Given the description of an element on the screen output the (x, y) to click on. 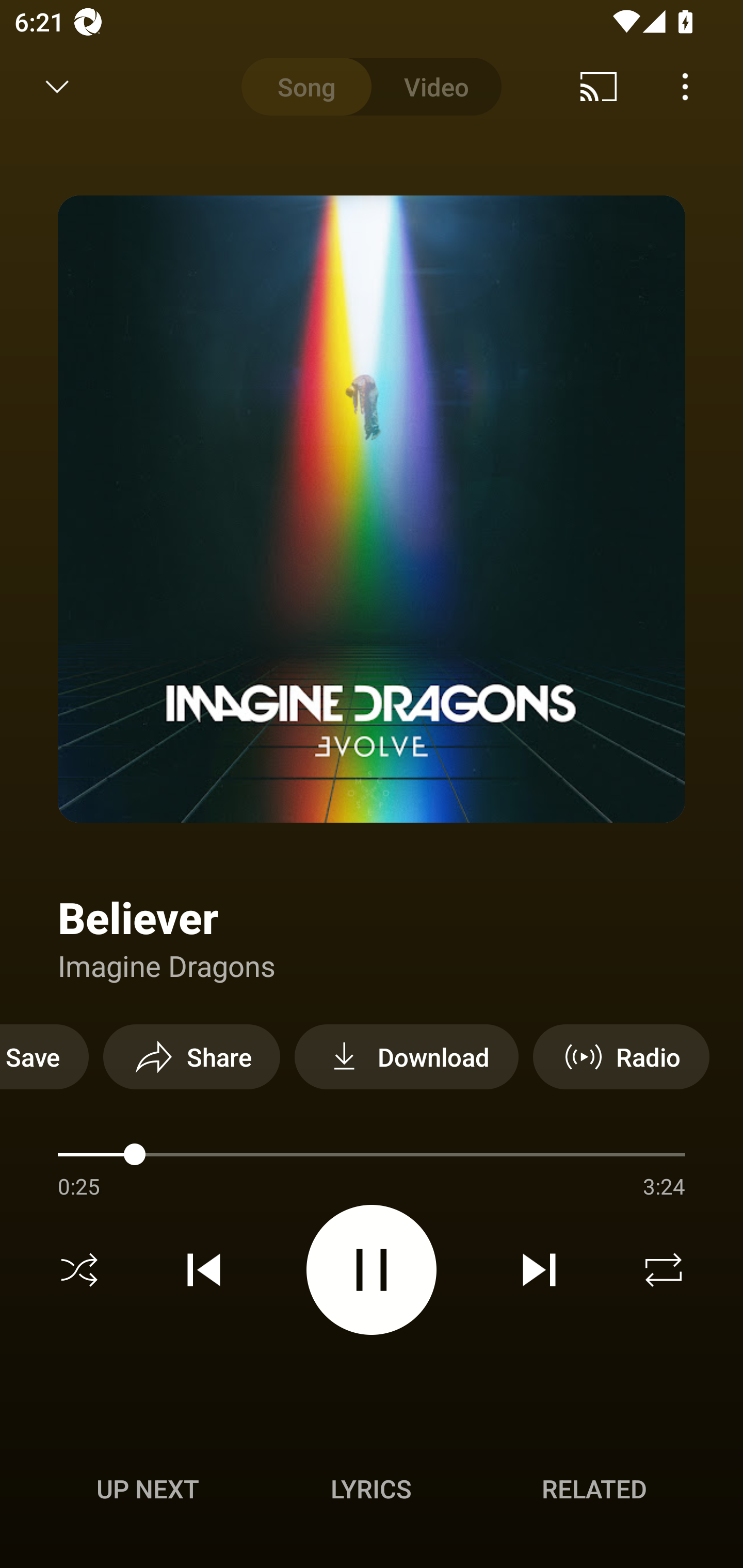
Minimize (57, 86)
Cast. Disconnected (598, 86)
Menu (684, 86)
Save Save to playlist (44, 1056)
Share (191, 1056)
Download (406, 1056)
Radio (620, 1056)
Pause video (371, 1269)
Shuffle off (79, 1269)
Previous track (203, 1269)
Next track (538, 1269)
Repeat off (663, 1269)
Up next UP NEXT Lyrics LYRICS Related RELATED (371, 1491)
Lyrics LYRICS (370, 1488)
Related RELATED (594, 1488)
